Given the description of an element on the screen output the (x, y) to click on. 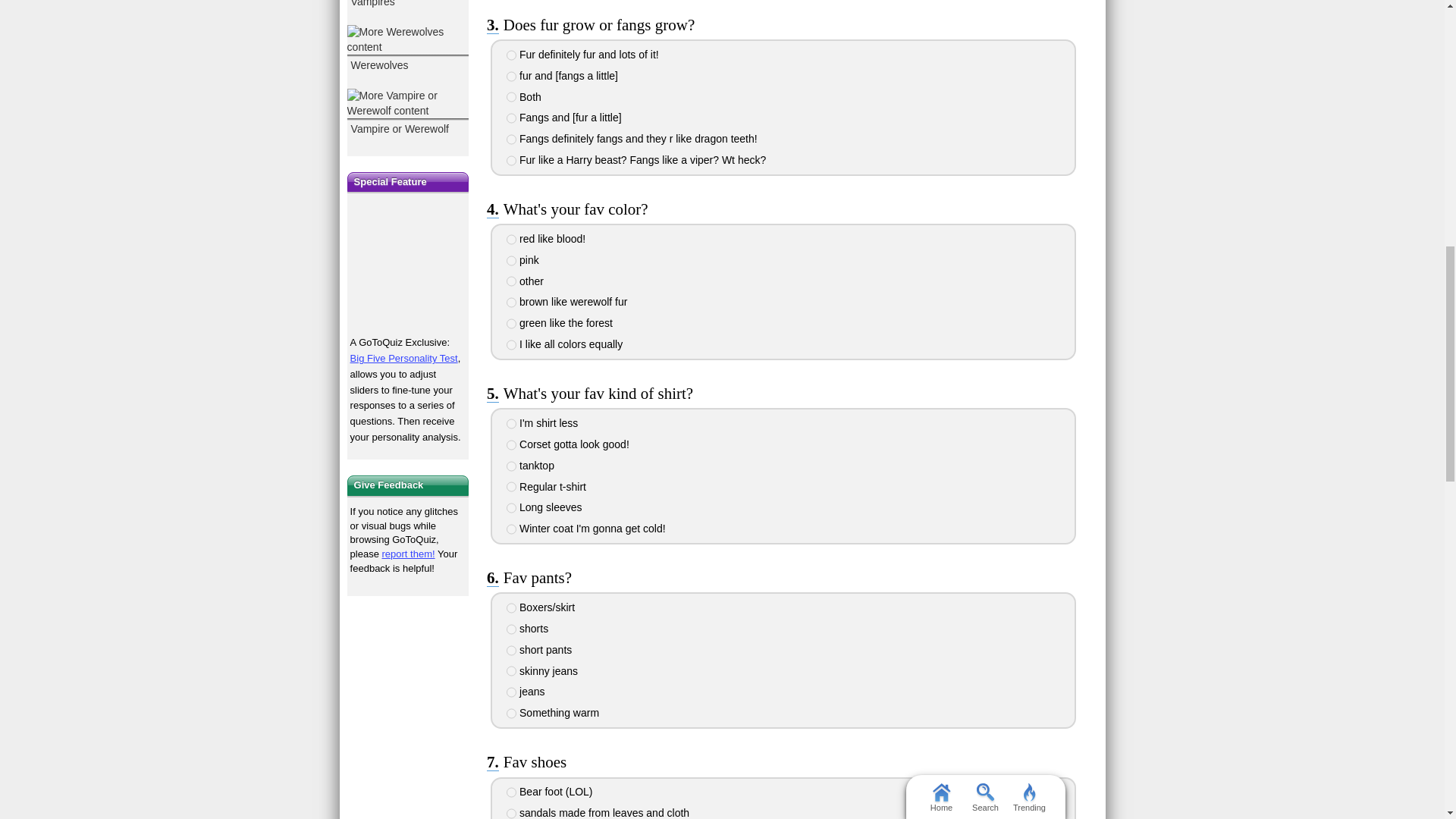
Werewolves (407, 50)
Vampires (407, 5)
report them! (408, 553)
2 (511, 260)
2 (511, 76)
Take our featured personality test (407, 265)
Vampire or Werewolf (407, 113)
1 (511, 239)
1 (511, 54)
5 (511, 139)
